Given the description of an element on the screen output the (x, y) to click on. 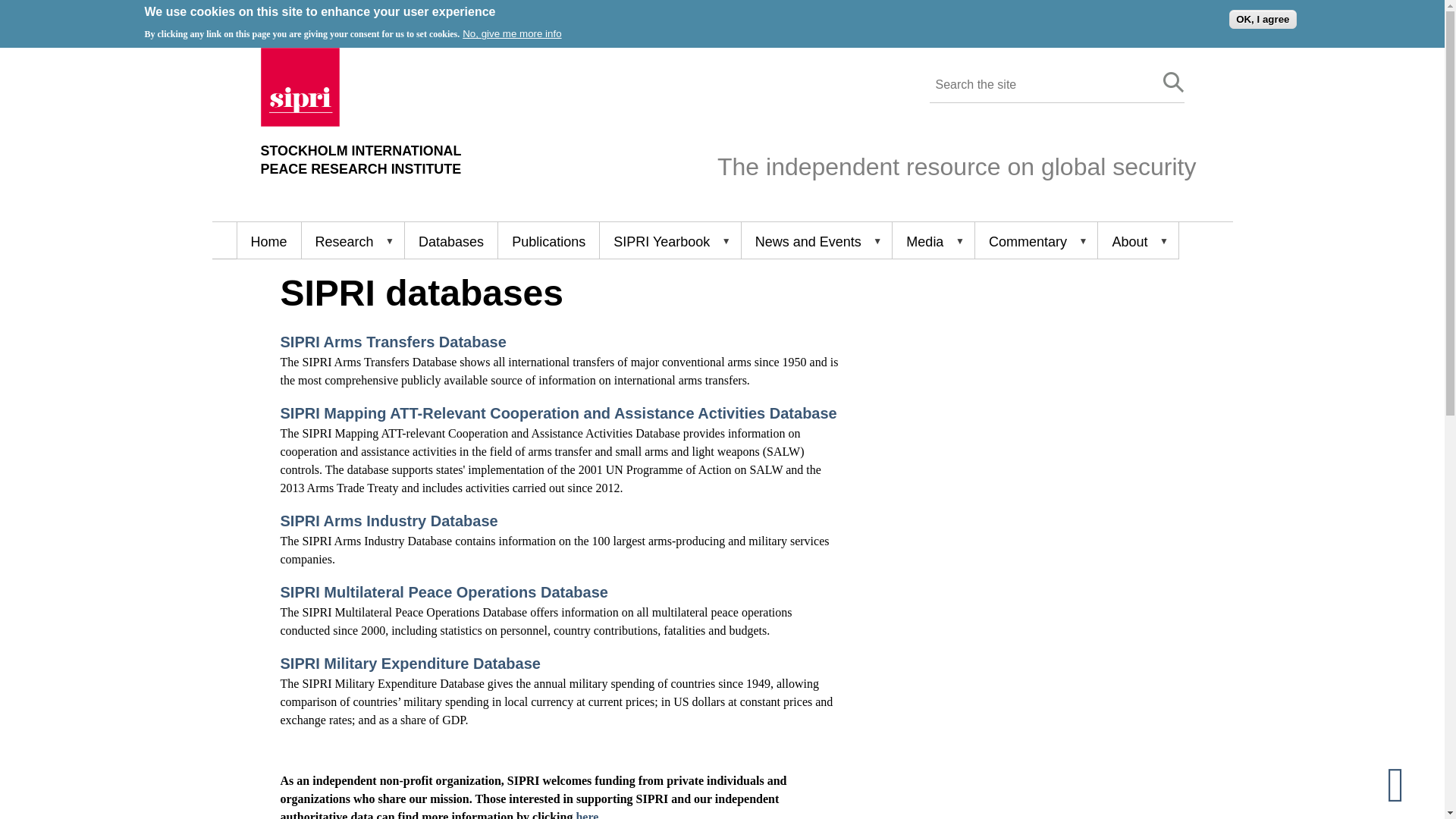
Recent and upcoming news and events (816, 240)
Publications (547, 240)
Databases (450, 240)
Home (299, 122)
Click to return to the top of the page (1408, 782)
Home (360, 159)
Search (1174, 82)
Enter the terms you wish to search for. (1039, 84)
SIPRI's research (352, 240)
Home (267, 240)
SIPRI's databases (360, 159)
Search (450, 240)
No, give me more info (1174, 82)
